Given the description of an element on the screen output the (x, y) to click on. 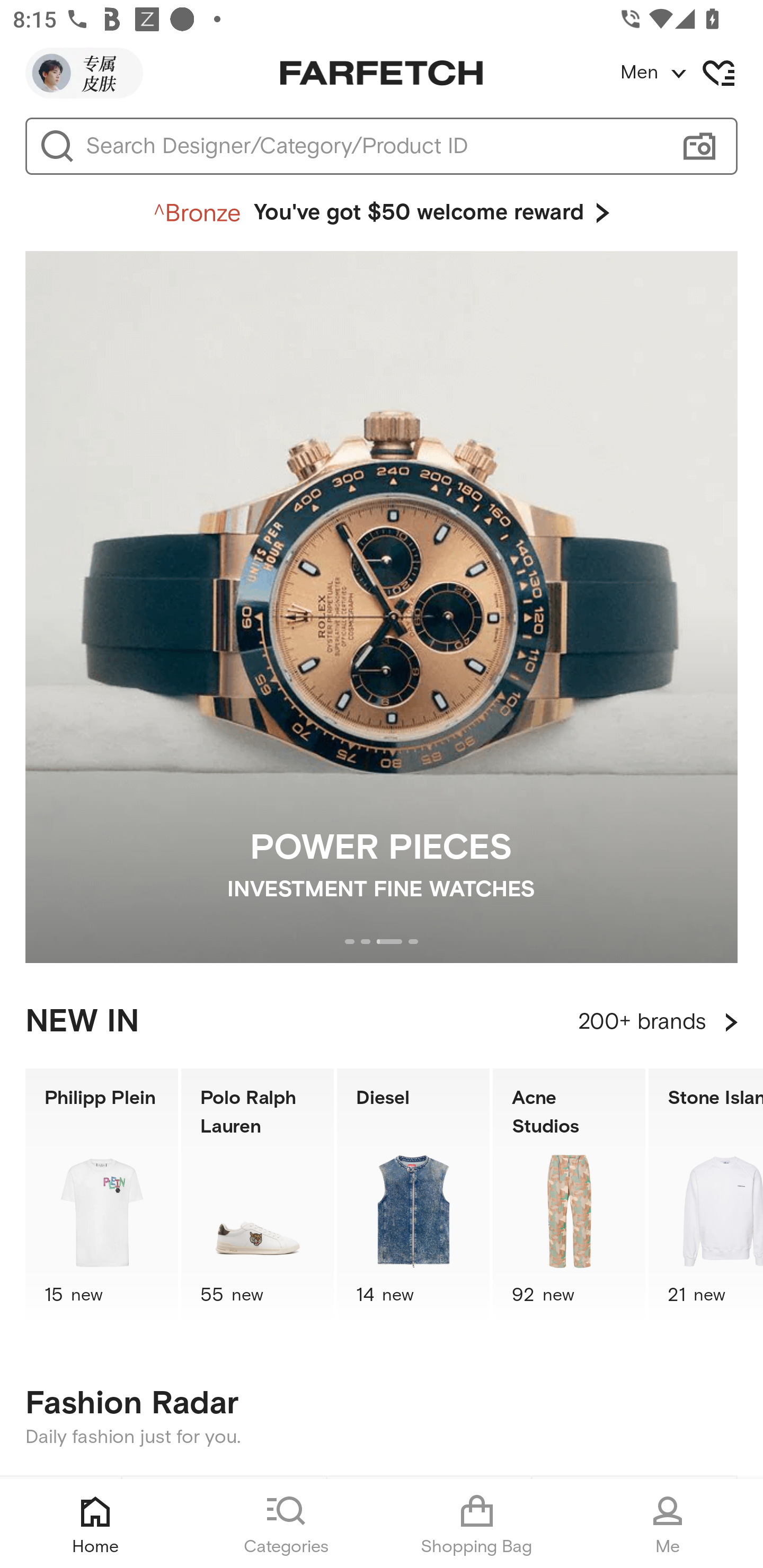
Men (691, 72)
Search Designer/Category/Product ID (373, 146)
You've got $50 welcome reward (381, 213)
NEW IN 200+ brands (381, 1021)
Philipp Plein 15  new (101, 1196)
Polo Ralph Lauren 55  new (257, 1196)
Diesel 14  new (413, 1196)
Acne Studios 92  new (568, 1196)
Stone Island 21  new (705, 1196)
Categories (285, 1523)
Shopping Bag (476, 1523)
Me (667, 1523)
